Given the description of an element on the screen output the (x, y) to click on. 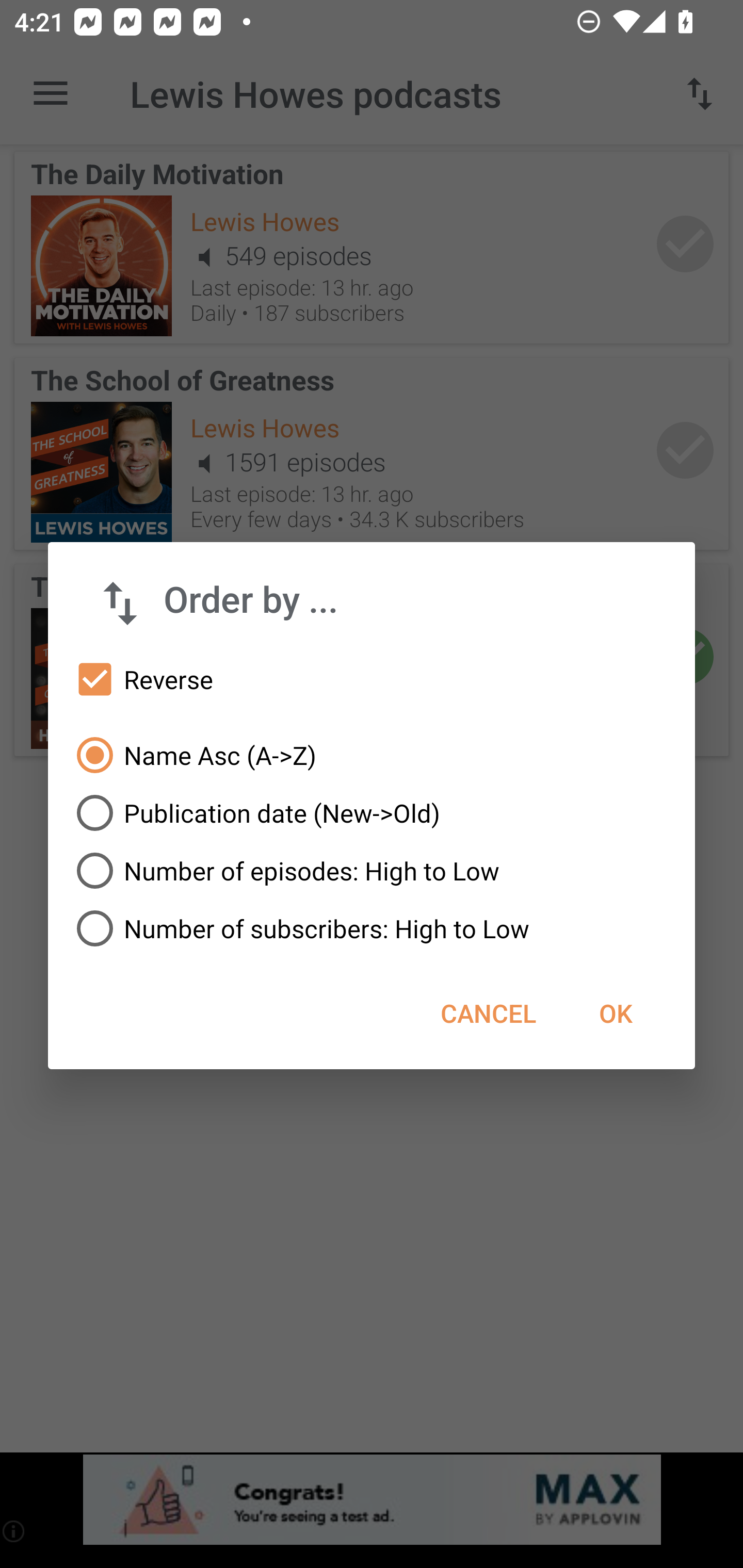
Reverse (371, 679)
Name Asc (A->Z) (371, 754)
Publication date (New->Old) (371, 813)
Number of episodes: High to Low (371, 871)
Number of subscribers: High to Low (371, 929)
CANCEL (488, 1012)
OK (615, 1012)
